Given the description of an element on the screen output the (x, y) to click on. 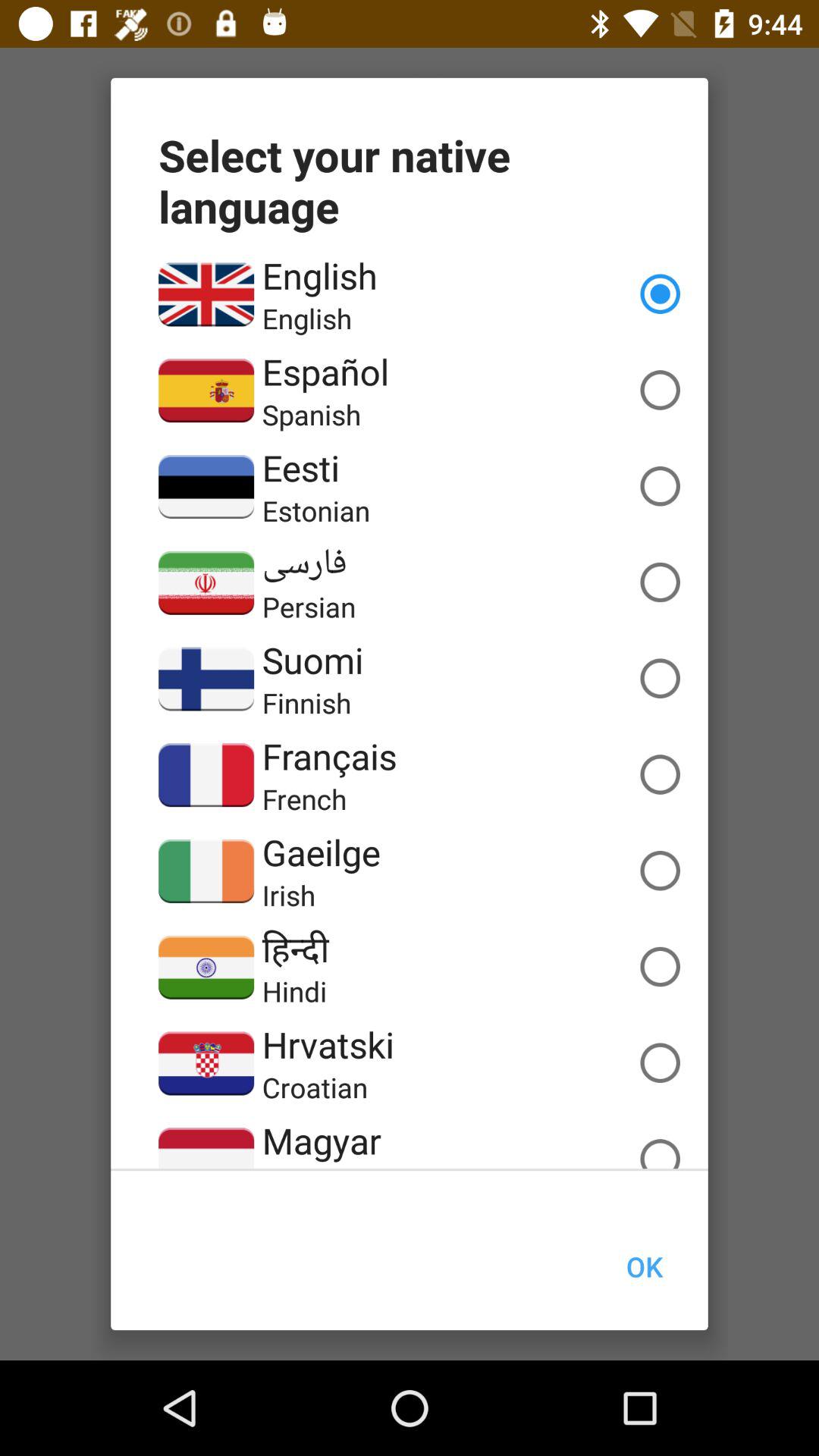
tap the gaeilge app (321, 852)
